Given the description of an element on the screen output the (x, y) to click on. 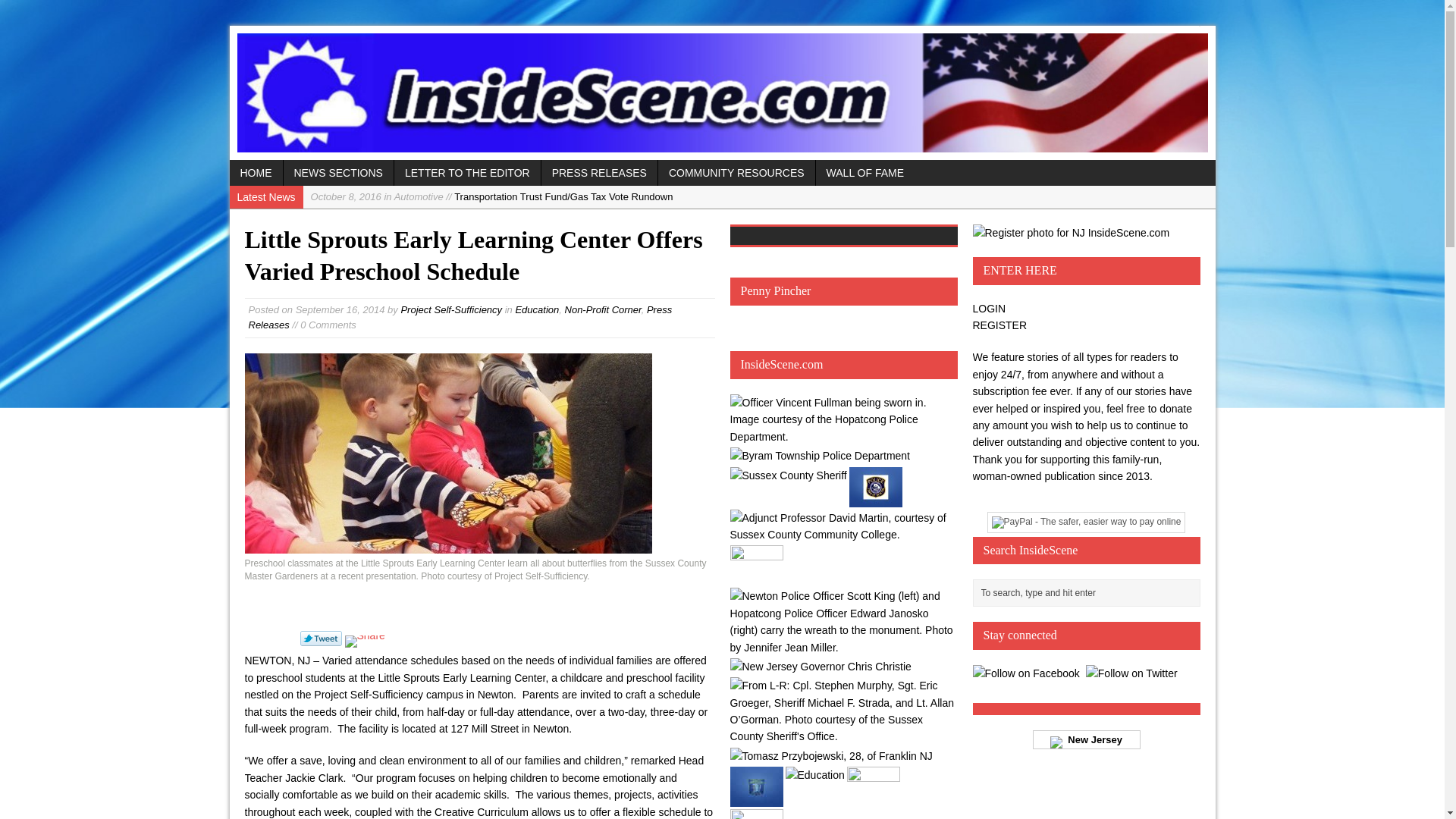
COMMUNITY RESOURCES (736, 172)
HOME (255, 172)
PRESS RELEASES (599, 172)
LETTER TO THE EDITOR (467, 172)
To search, type and hit enter (1089, 592)
Butterflies copy (447, 452)
InsideScene.com (721, 92)
NEWS SECTIONS (338, 172)
